Given the description of an element on the screen output the (x, y) to click on. 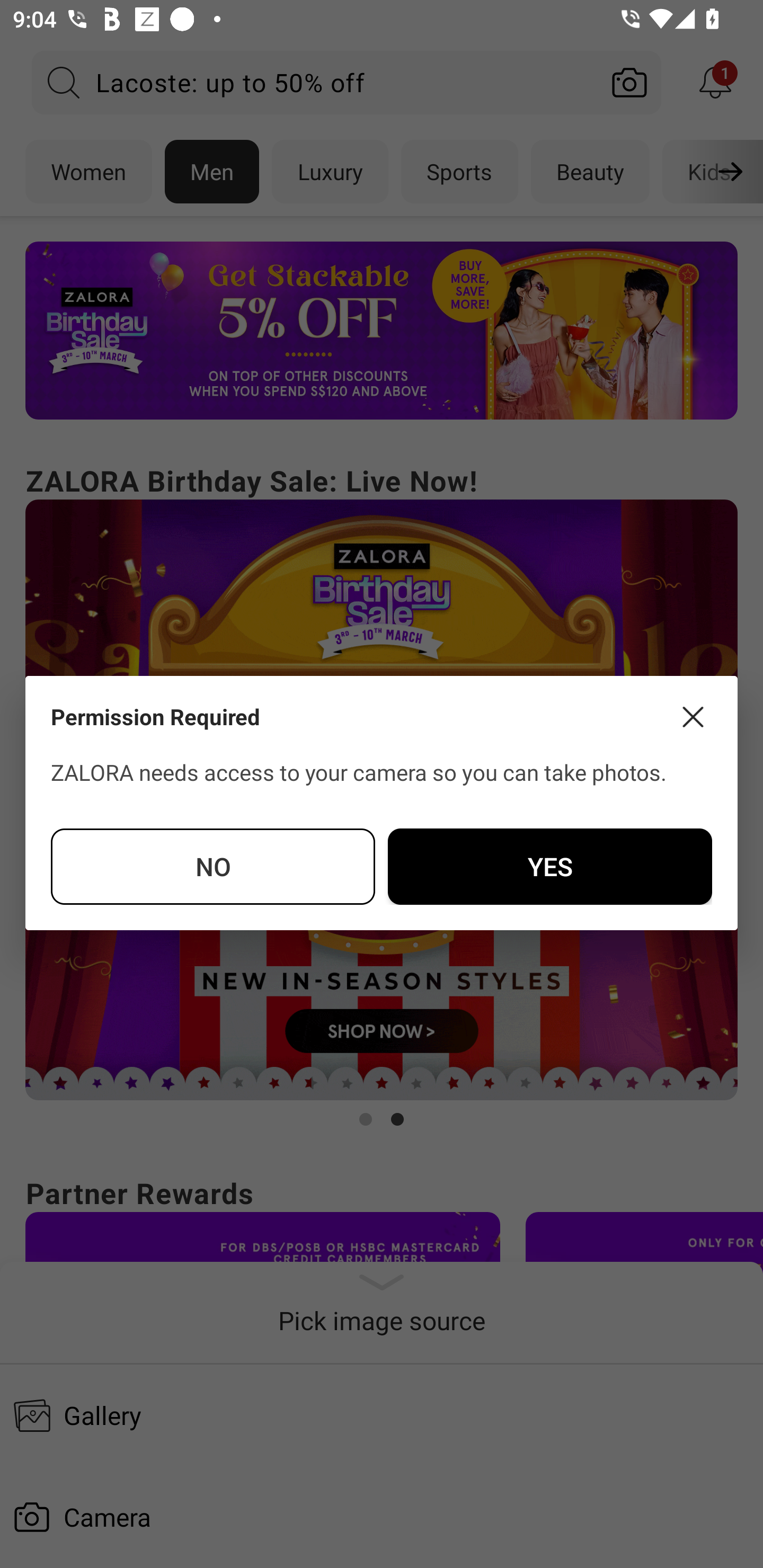
NO (213, 865)
YES (549, 865)
